Given the description of an element on the screen output the (x, y) to click on. 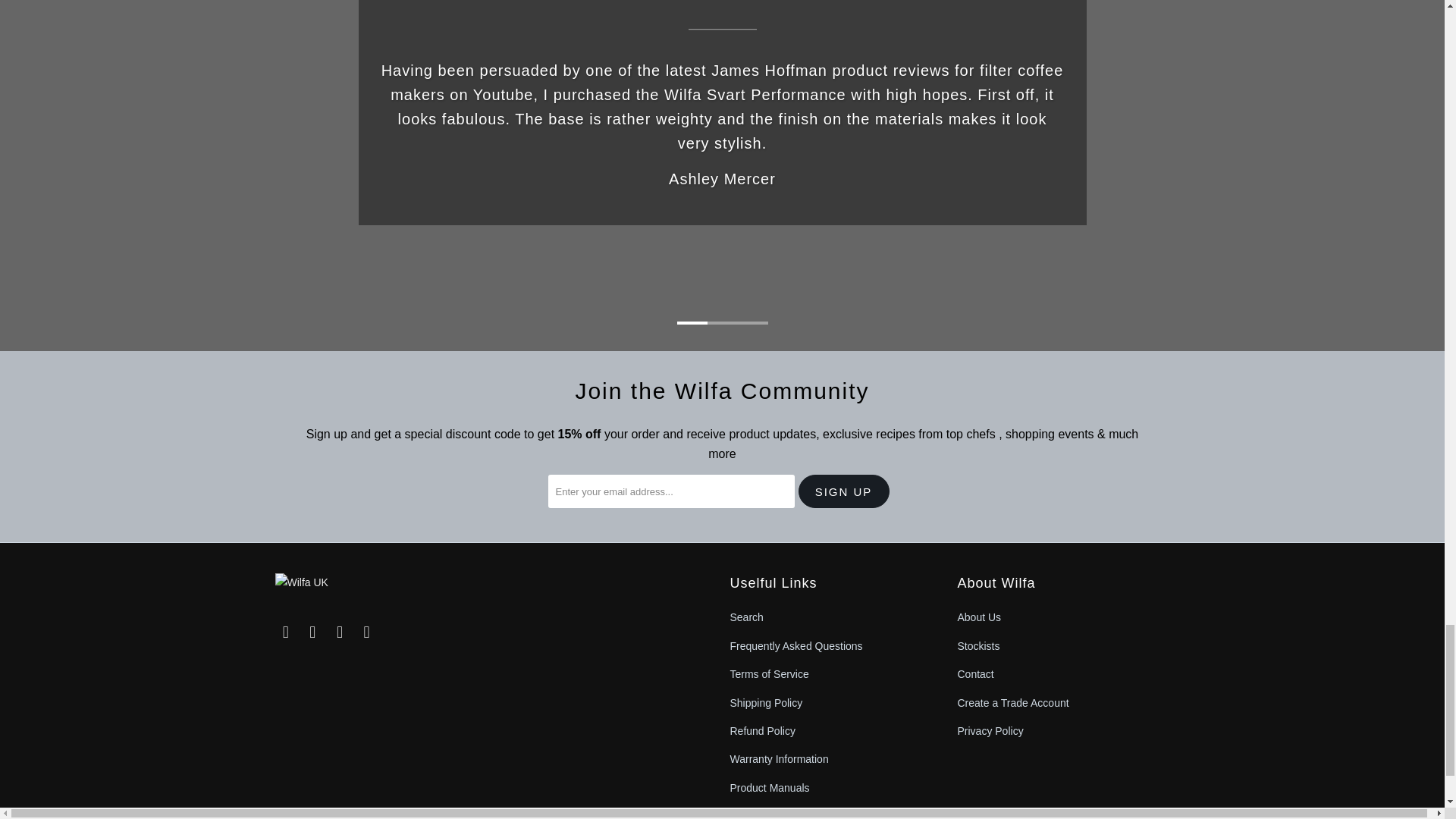
Sign Up (842, 491)
